Given the description of an element on the screen output the (x, y) to click on. 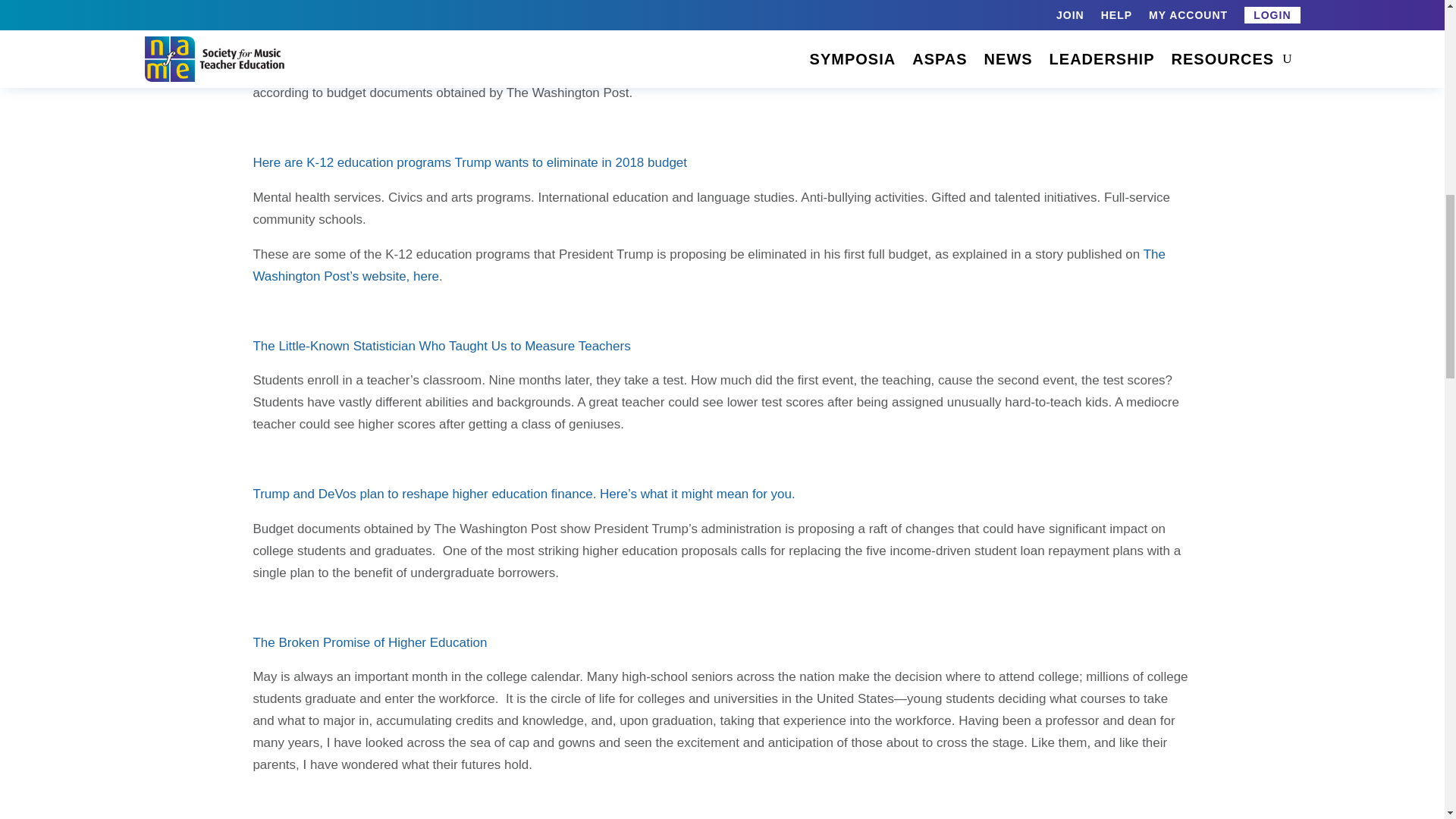
The Broken Promise of Higher Education (368, 642)
